Given the description of an element on the screen output the (x, y) to click on. 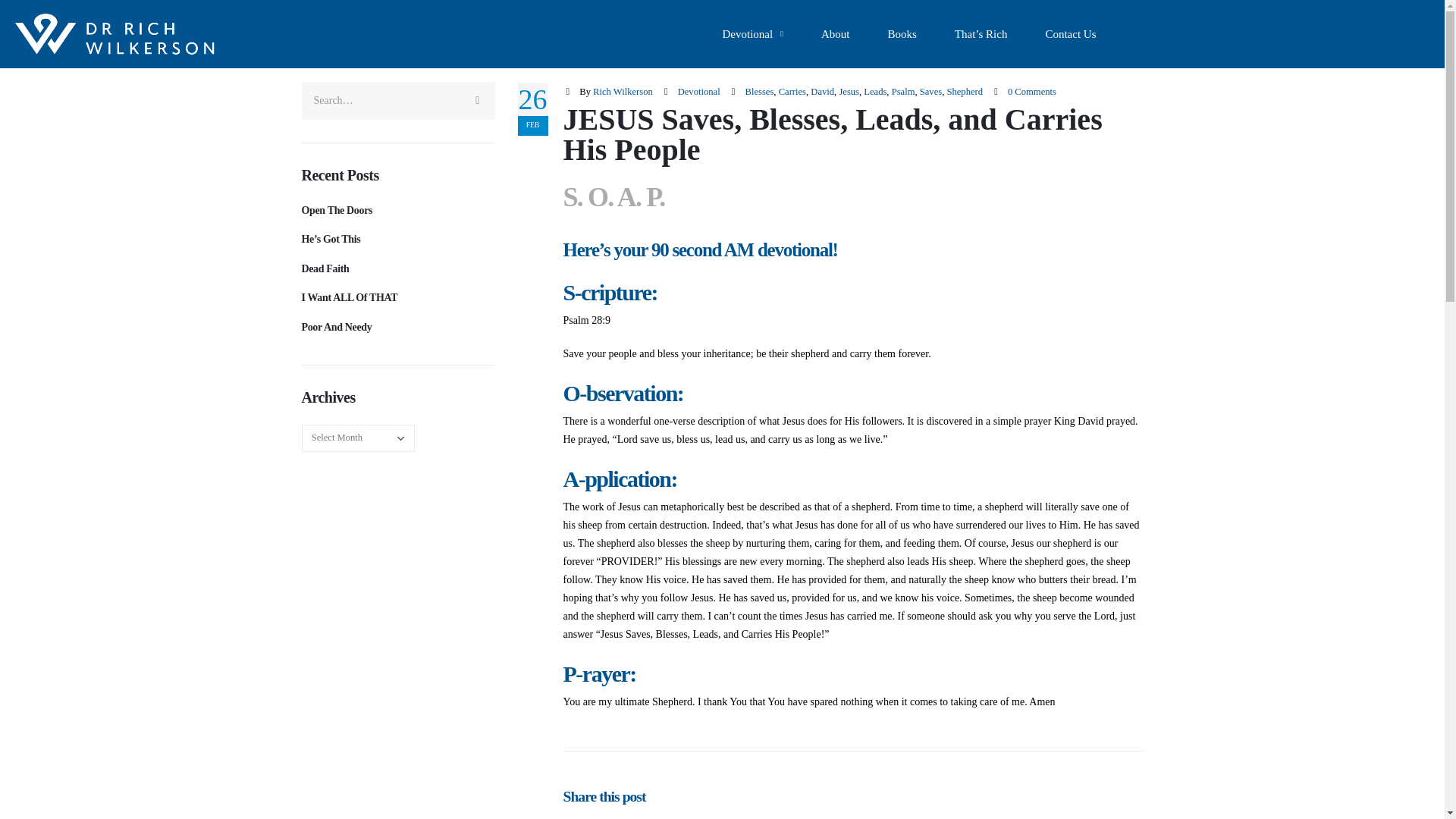
0 Comments (1032, 91)
Psalm (903, 91)
Blesses (759, 91)
0 Comments (1032, 91)
Devotional (699, 91)
Jesus (848, 91)
Devotional (752, 33)
Rich Wilkerson (622, 91)
Saves (931, 91)
Posts by Rich Wilkerson (622, 91)
Leads (874, 91)
Carries (792, 91)
Shepherd (964, 91)
David (822, 91)
